Given the description of an element on the screen output the (x, y) to click on. 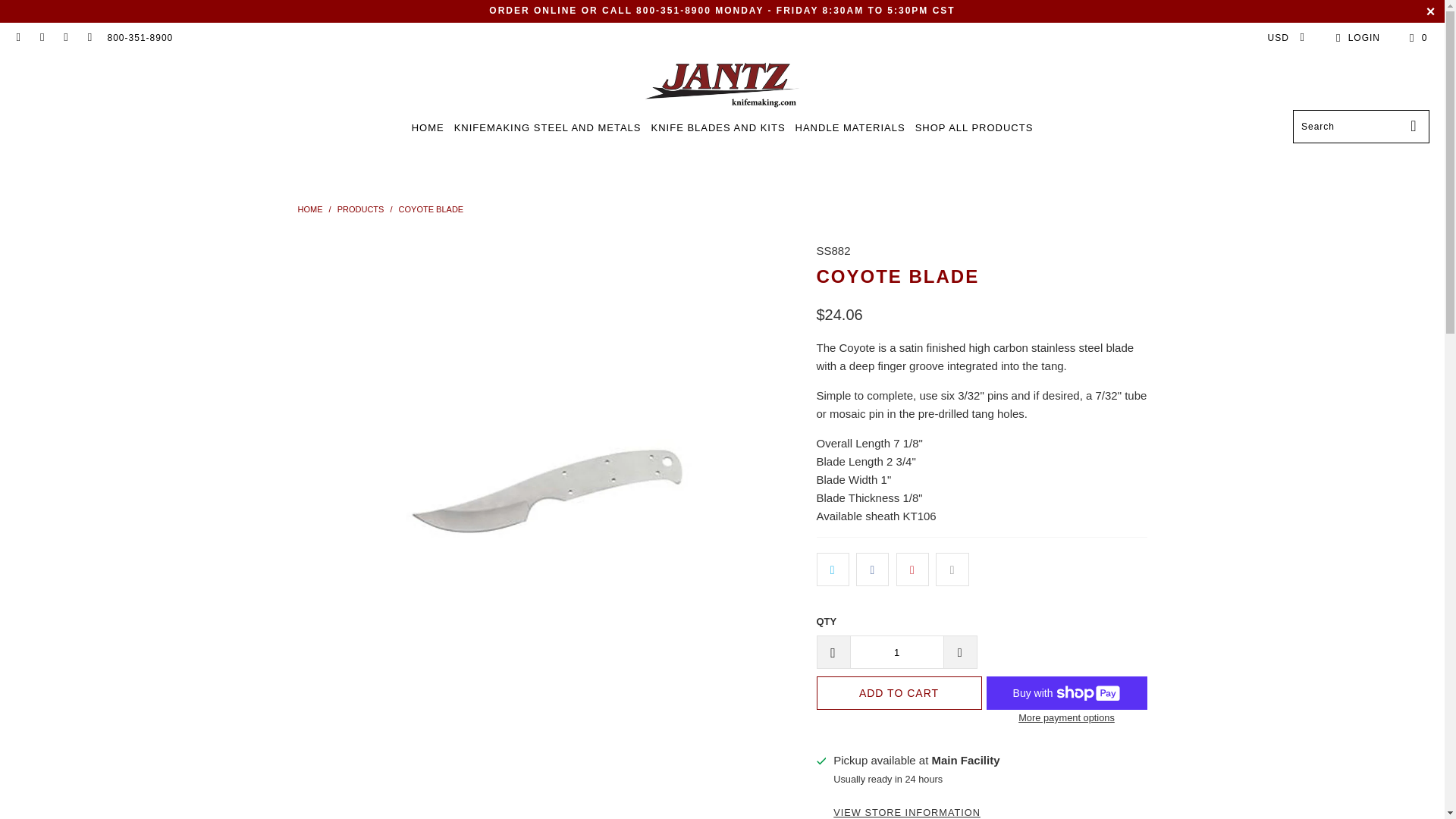
Email Jantz Supply (17, 37)
Share this on Twitter (831, 568)
Share this on Facebook (872, 568)
Email this to a friend (952, 568)
Jantz Supply on Twitter (89, 37)
Jantz Supply on Instagram (65, 37)
Share this on Pinterest (912, 568)
Jantz Supply on Facebook (41, 37)
Jantz Supply (309, 208)
Products (360, 208)
Jantz Supply (722, 84)
My Account  (1355, 37)
1 (895, 652)
